Given the description of an element on the screen output the (x, y) to click on. 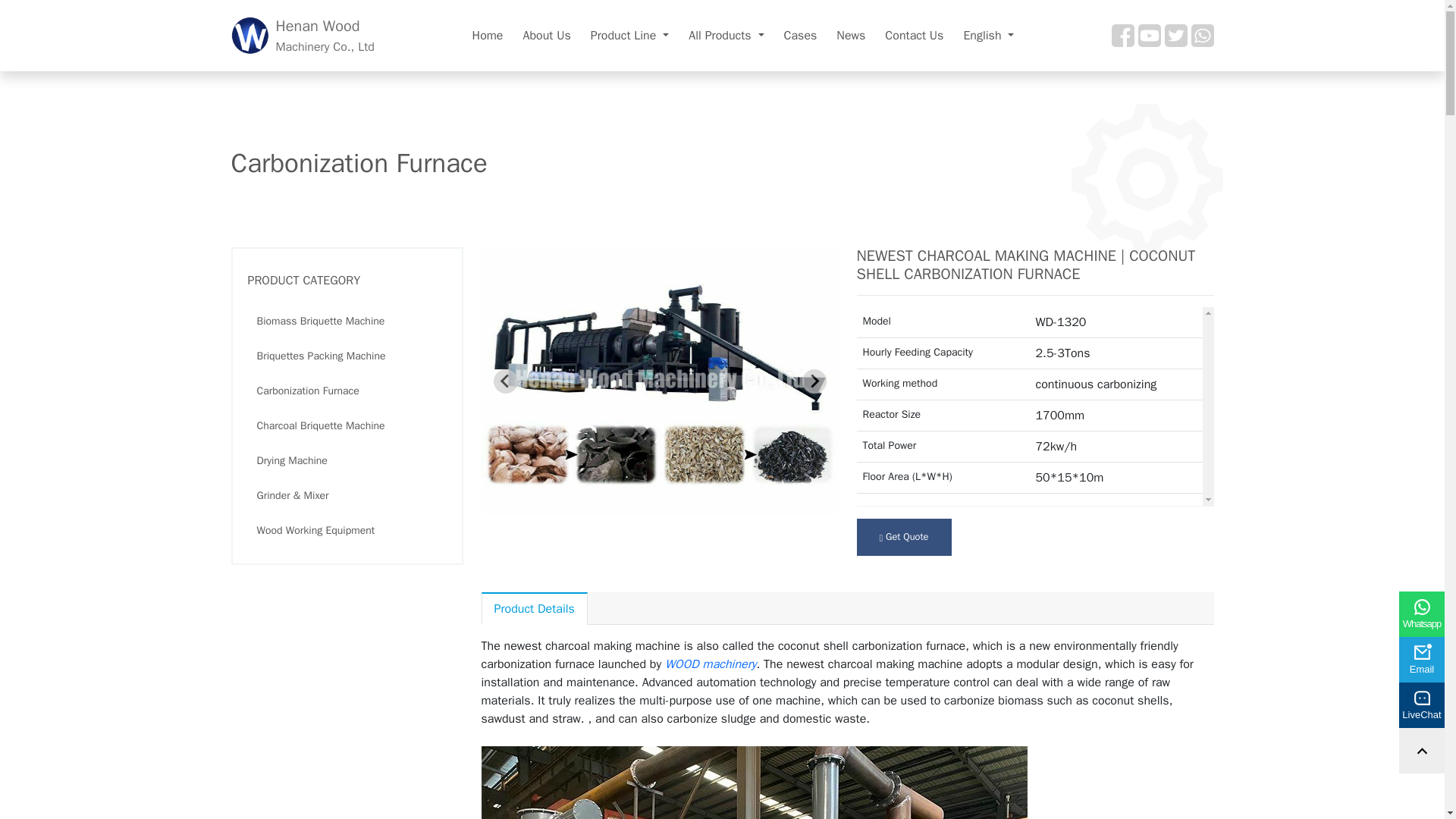
Contact Us (914, 35)
Product Line (630, 35)
All Products (302, 35)
